Given the description of an element on the screen output the (x, y) to click on. 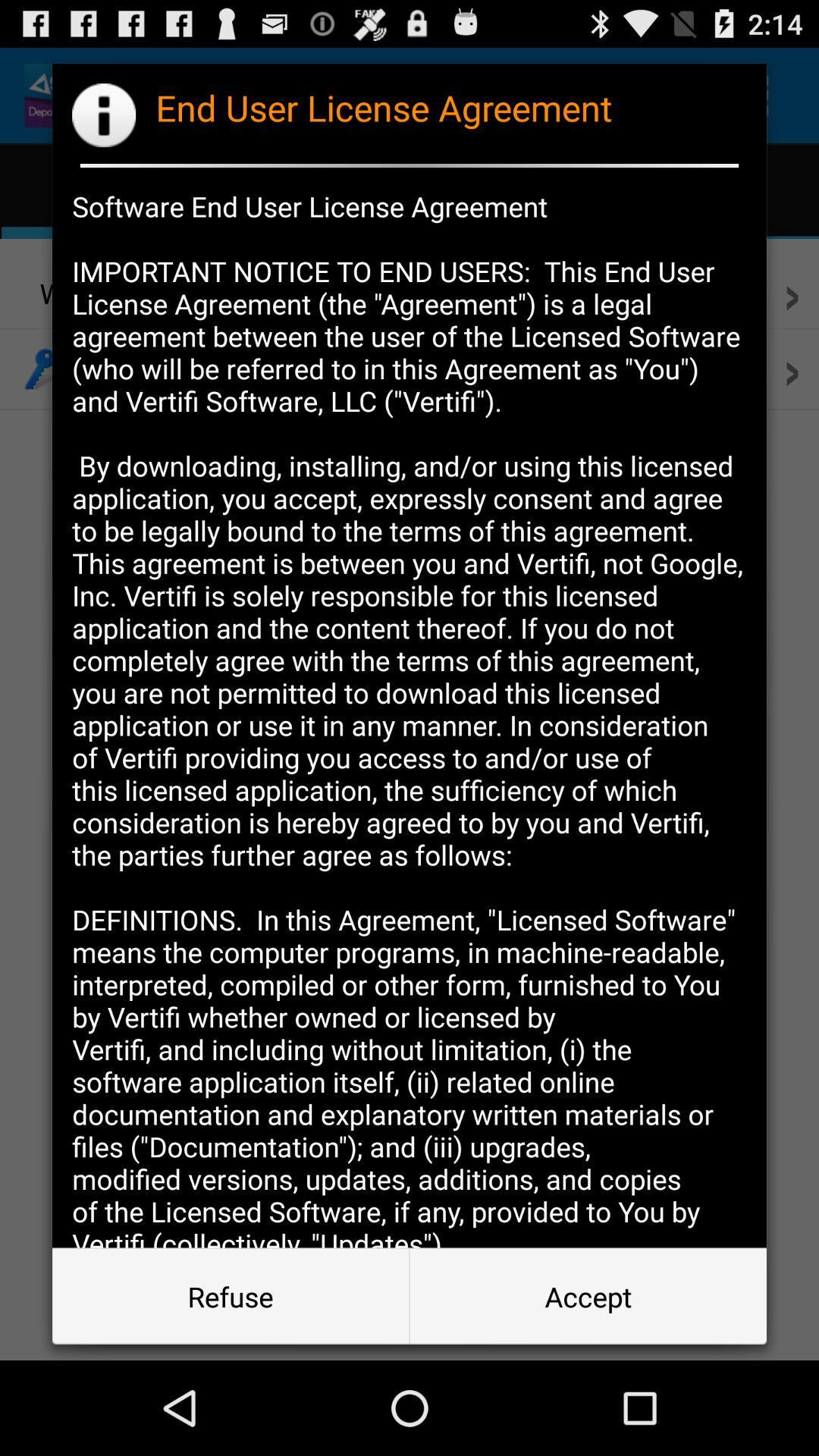
click button next to the refuse (588, 1296)
